Given the description of an element on the screen output the (x, y) to click on. 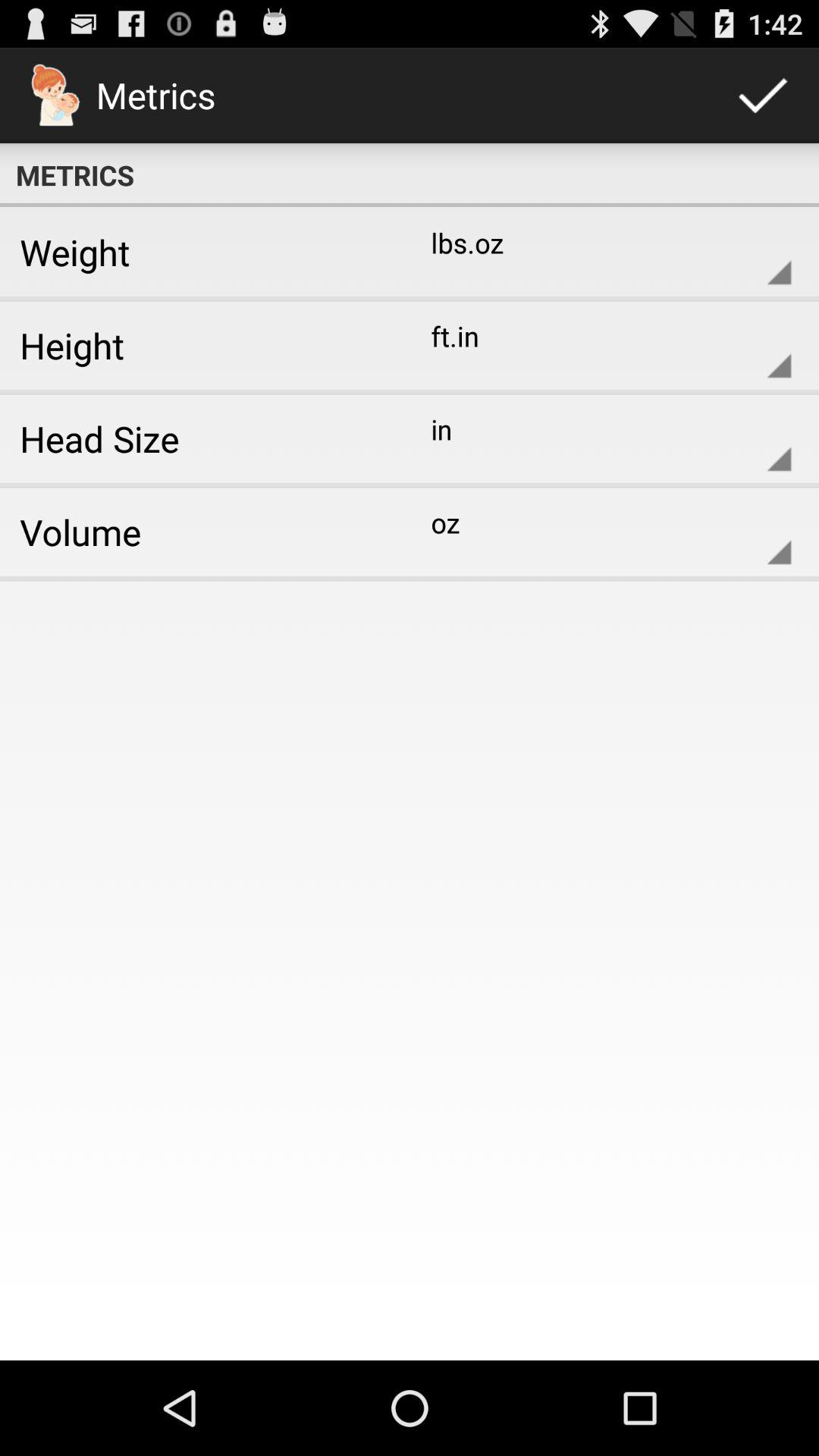
select the icon next to weight icon (599, 252)
